Given the description of an element on the screen output the (x, y) to click on. 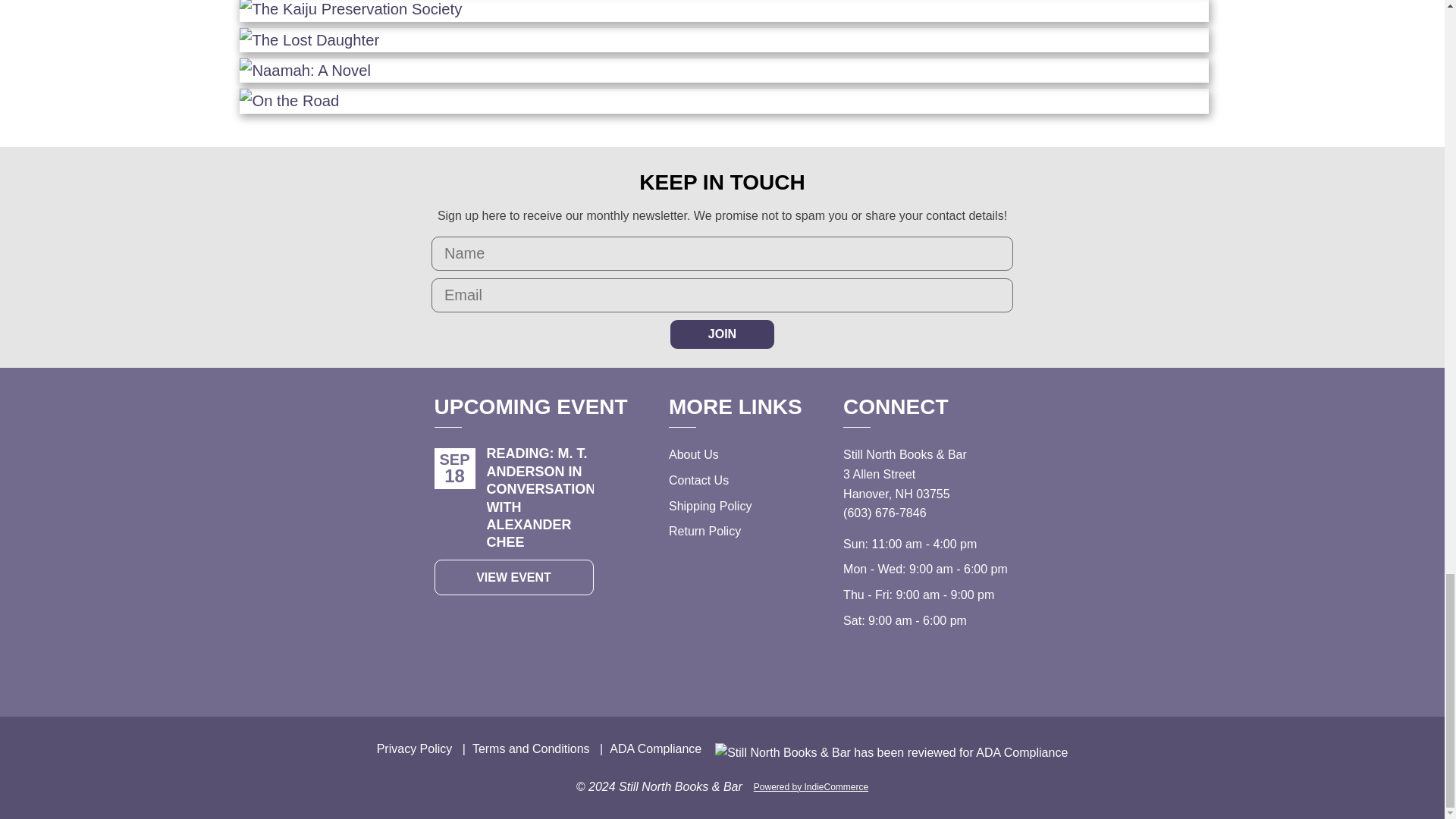
Connect with X (885, 663)
Connect with Facebook (919, 663)
Connect with Instagram (852, 663)
Join (721, 334)
